Given the description of an element on the screen output the (x, y) to click on. 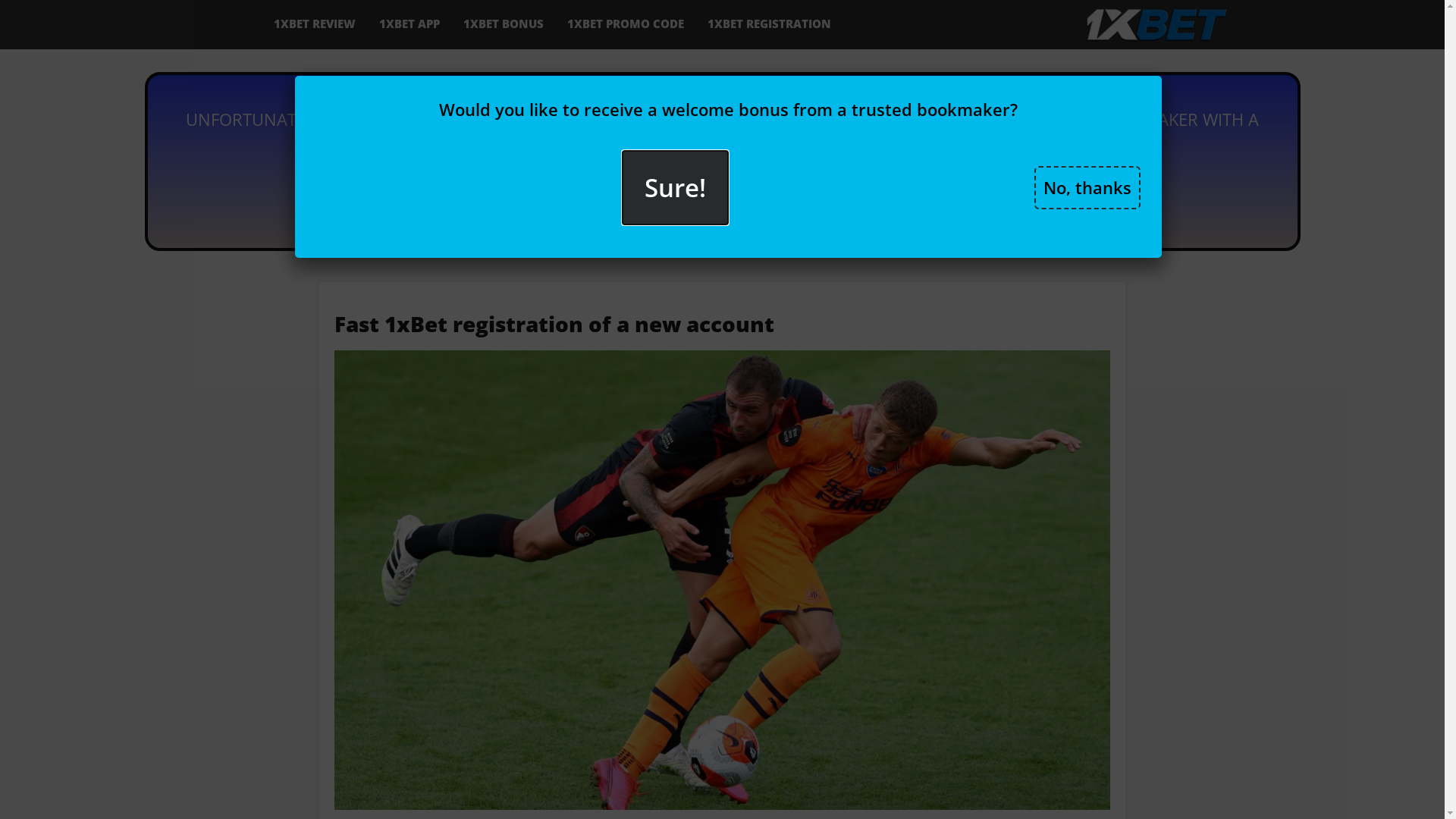
Sure! Element type: text (675, 187)
1XBET BONUS Element type: text (503, 24)
1XBET REGISTRATION Element type: text (769, 24)
1XBET APP Element type: text (409, 24)
1XBET REVIEW Element type: text (314, 24)
Register Parimatch Element type: text (721, 194)
1XBET PROMO CODE Element type: text (625, 24)
